Given the description of an element on the screen output the (x, y) to click on. 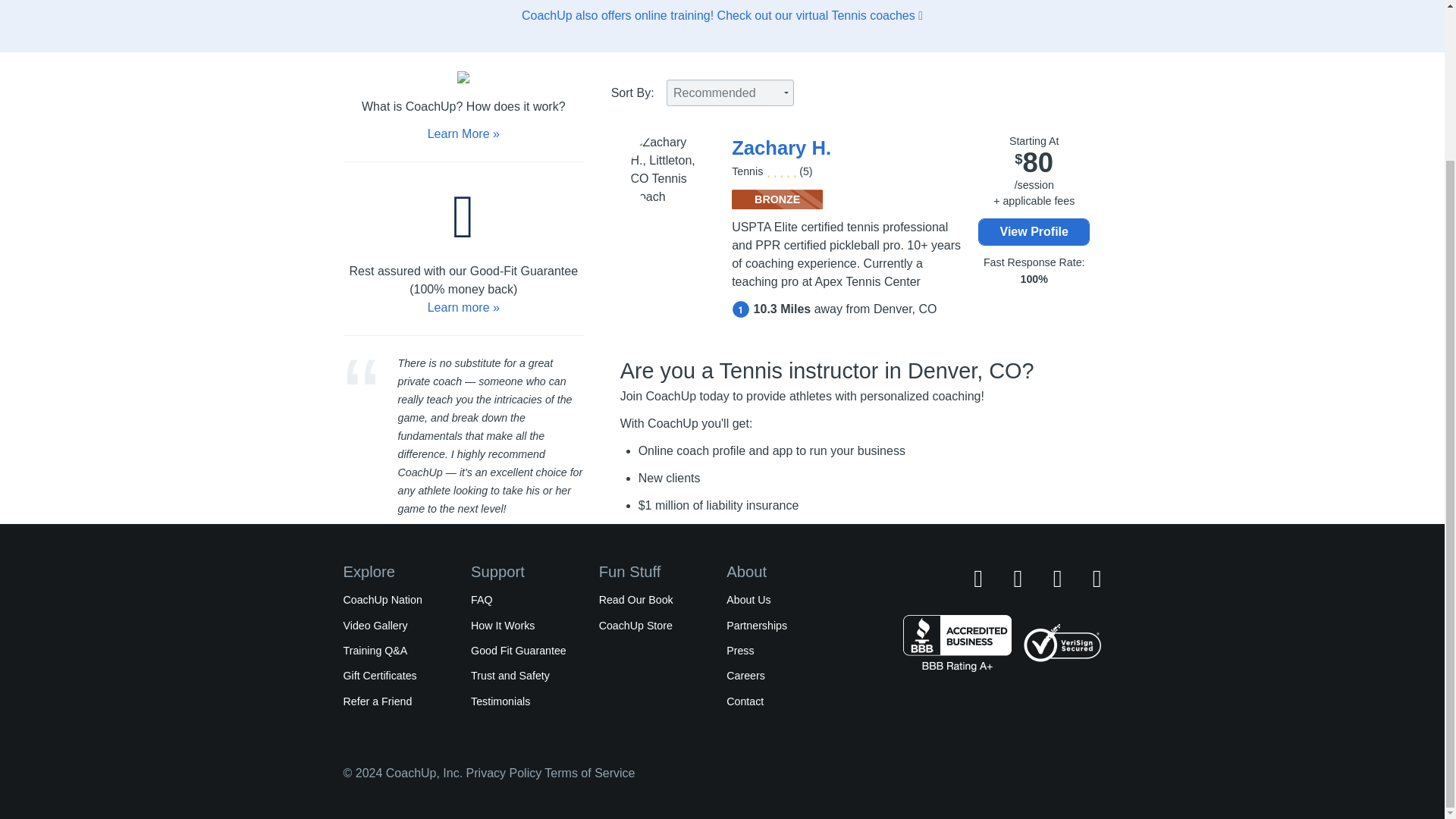
CoachUp Nation (382, 599)
Refer a Friend (377, 701)
Video Gallery (374, 625)
View Profile (1033, 231)
Apply now! (671, 564)
Home (358, 724)
Good Fit Guarantee (518, 650)
FAQ (481, 599)
Testimonials (499, 701)
